Given the description of an element on the screen output the (x, y) to click on. 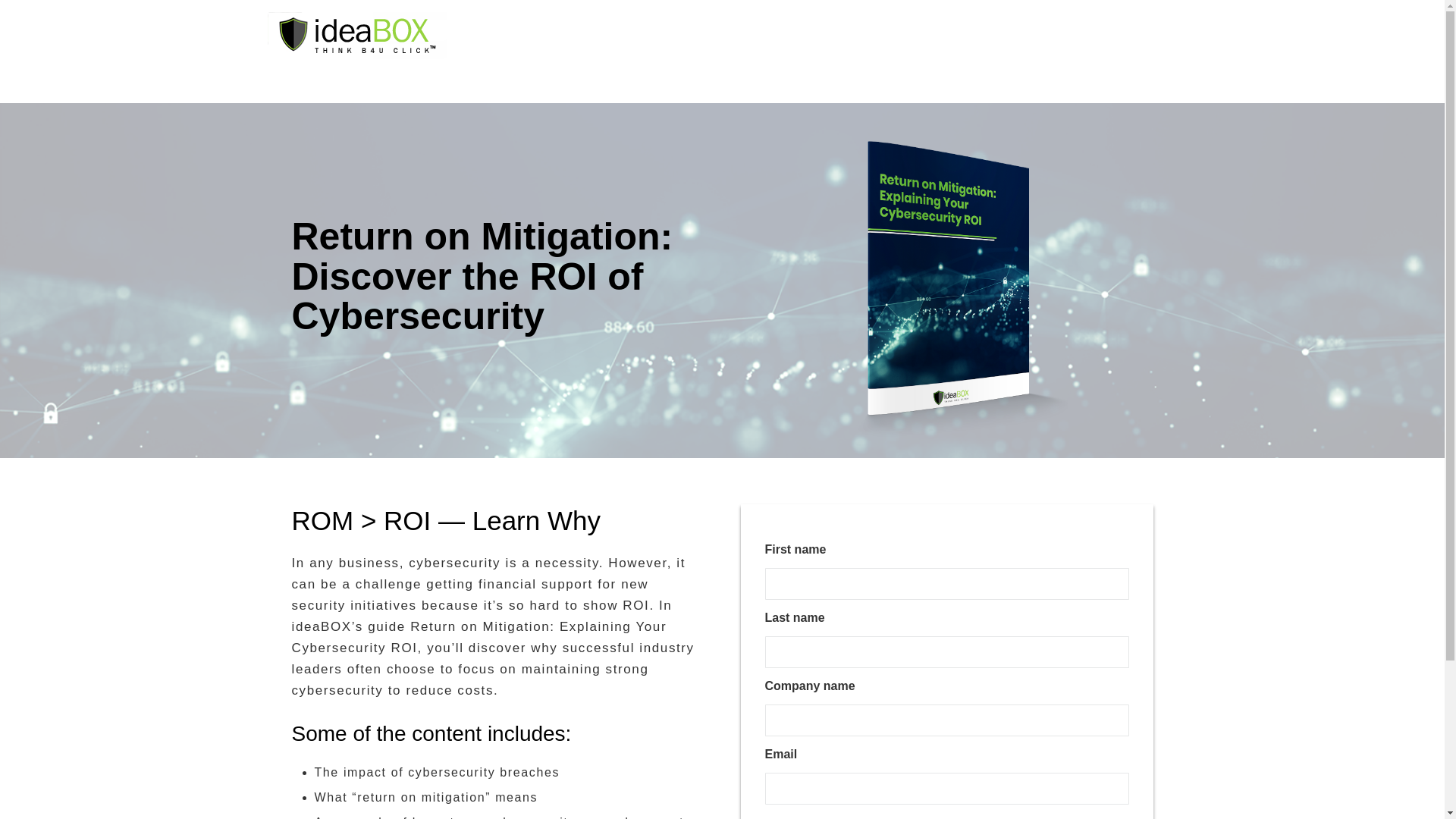
vast.png (355, 36)
